Given the description of an element on the screen output the (x, y) to click on. 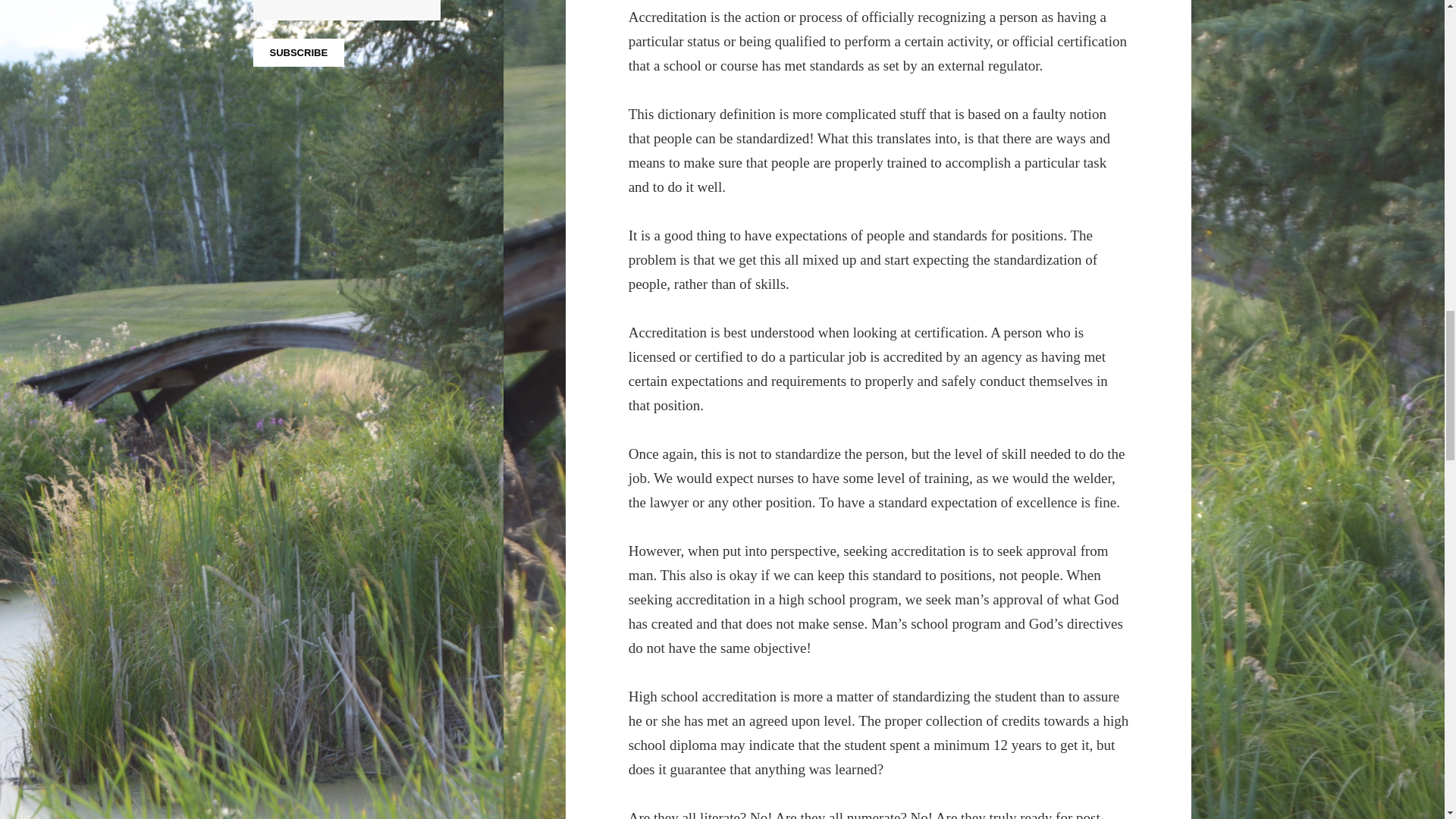
Subscribe (299, 52)
Subscribe (299, 52)
